Given the description of an element on the screen output the (x, y) to click on. 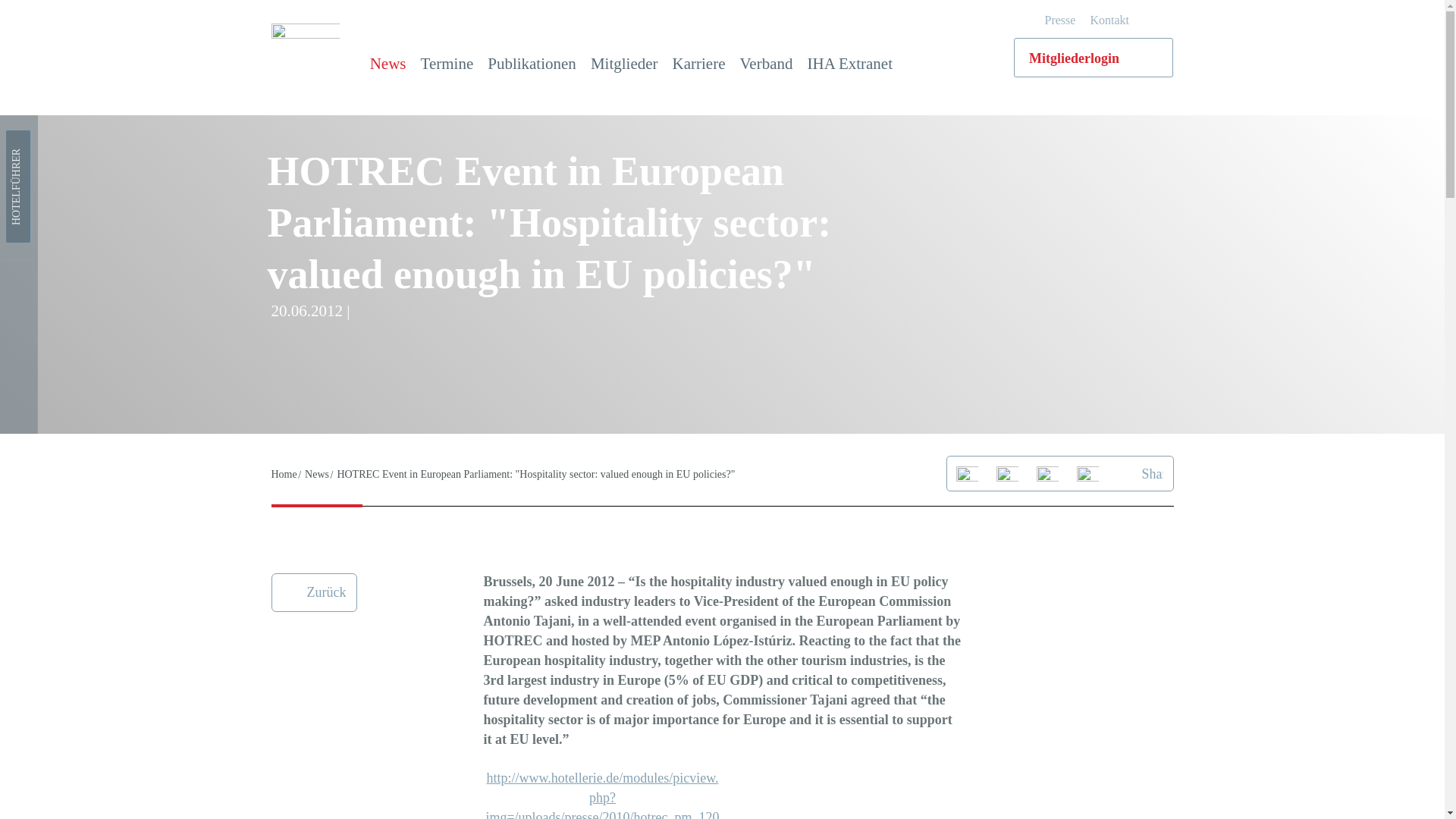
IHA Extranet (849, 63)
Karriere (698, 63)
Termine (447, 63)
Publikationen (531, 63)
Verband (765, 63)
Mitglieder (624, 63)
Kontakt (1109, 20)
Mitglieder (624, 63)
News (387, 63)
Mitgliederlogin (1093, 56)
